Given the description of an element on the screen output the (x, y) to click on. 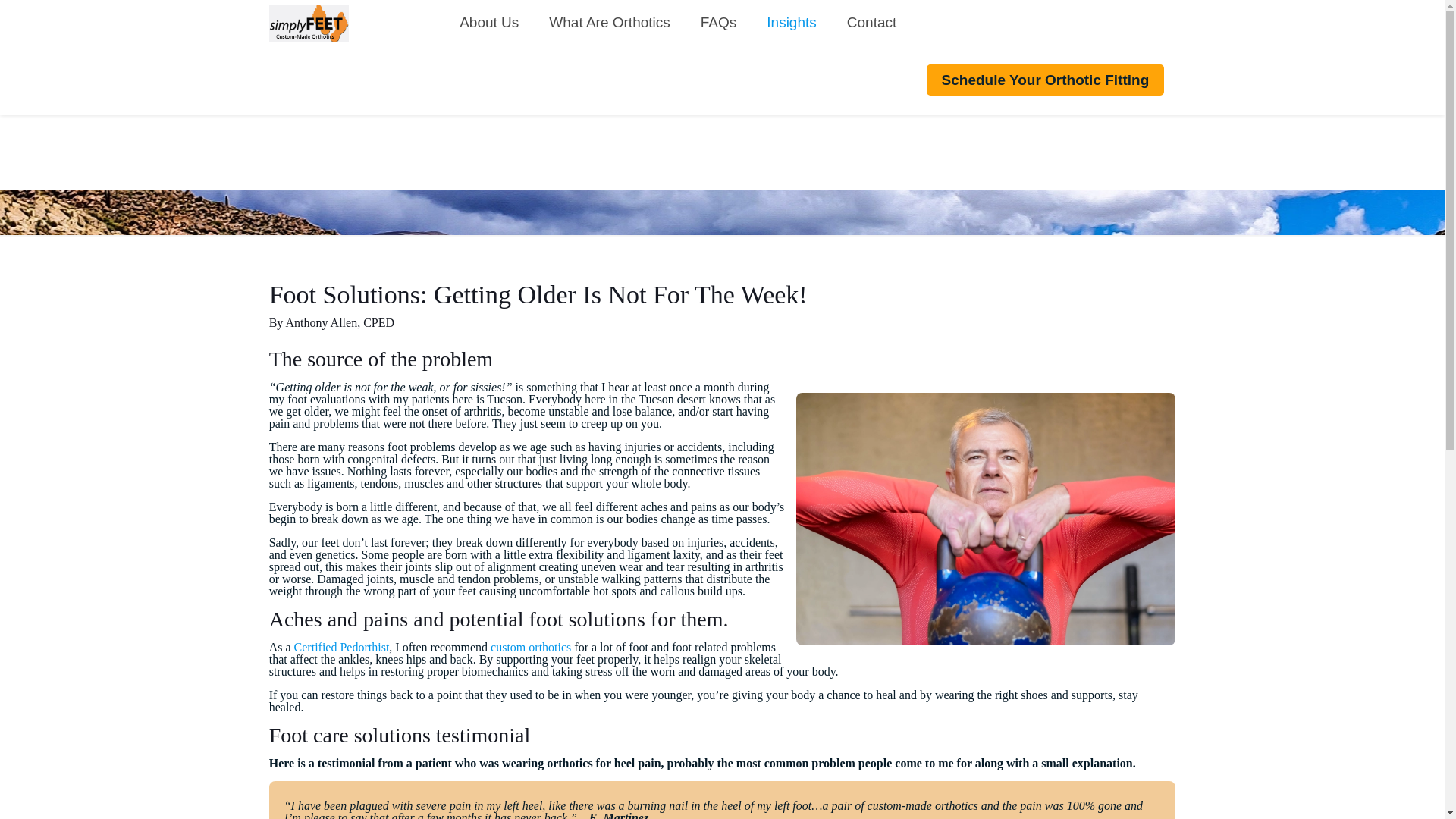
Insights (791, 22)
Schedule Your Orthotic Fitting (1045, 79)
custom orthotics (530, 646)
What Are Orthotics (609, 22)
Contact (871, 22)
Custom Orthotics Tucson (309, 22)
About Us (489, 22)
Certified Pedorthist (342, 646)
FAQs (718, 22)
